Given the description of an element on the screen output the (x, y) to click on. 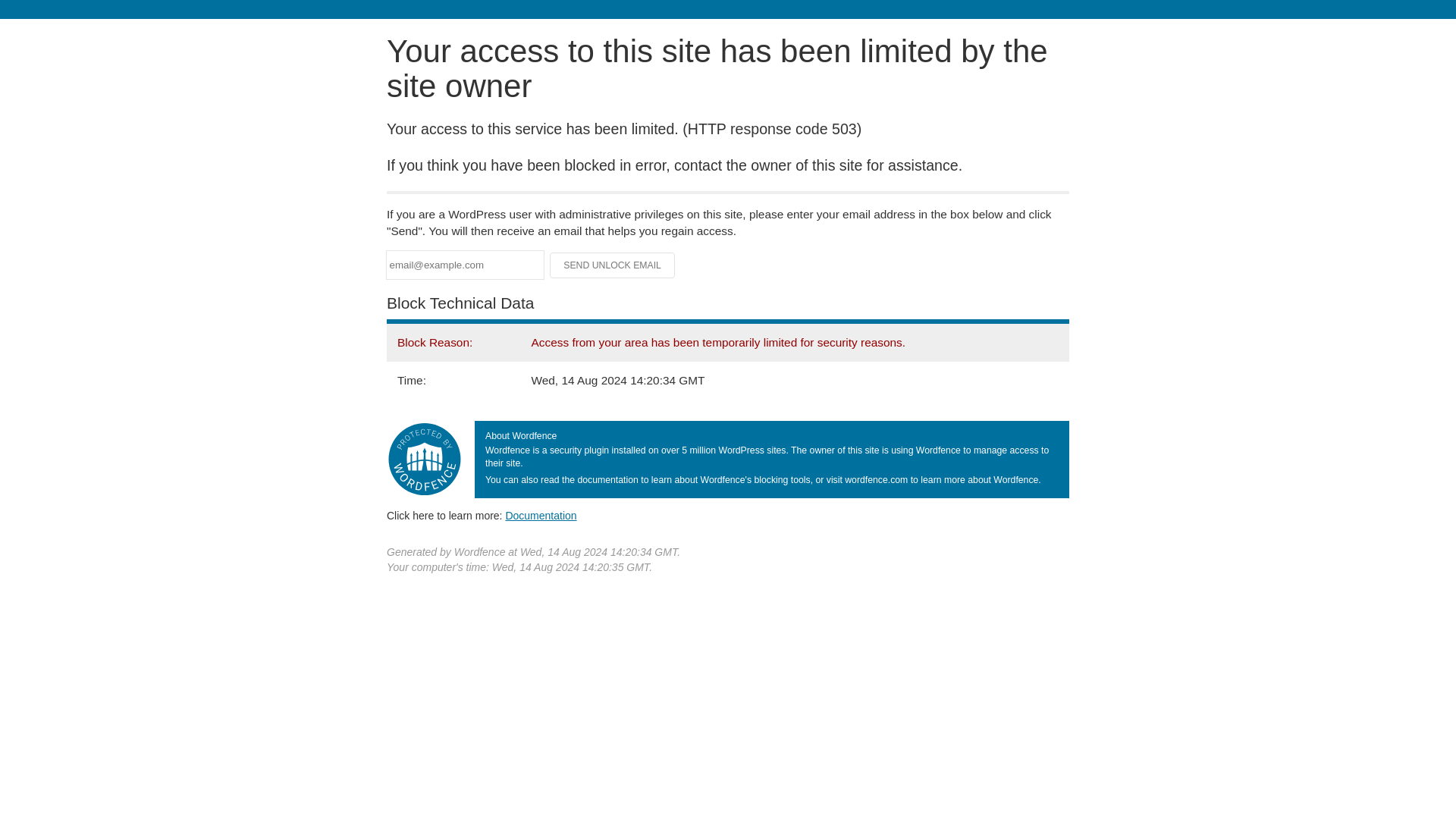
Send Unlock Email (612, 265)
Send Unlock Email (612, 265)
Documentation (540, 515)
